Given the description of an element on the screen output the (x, y) to click on. 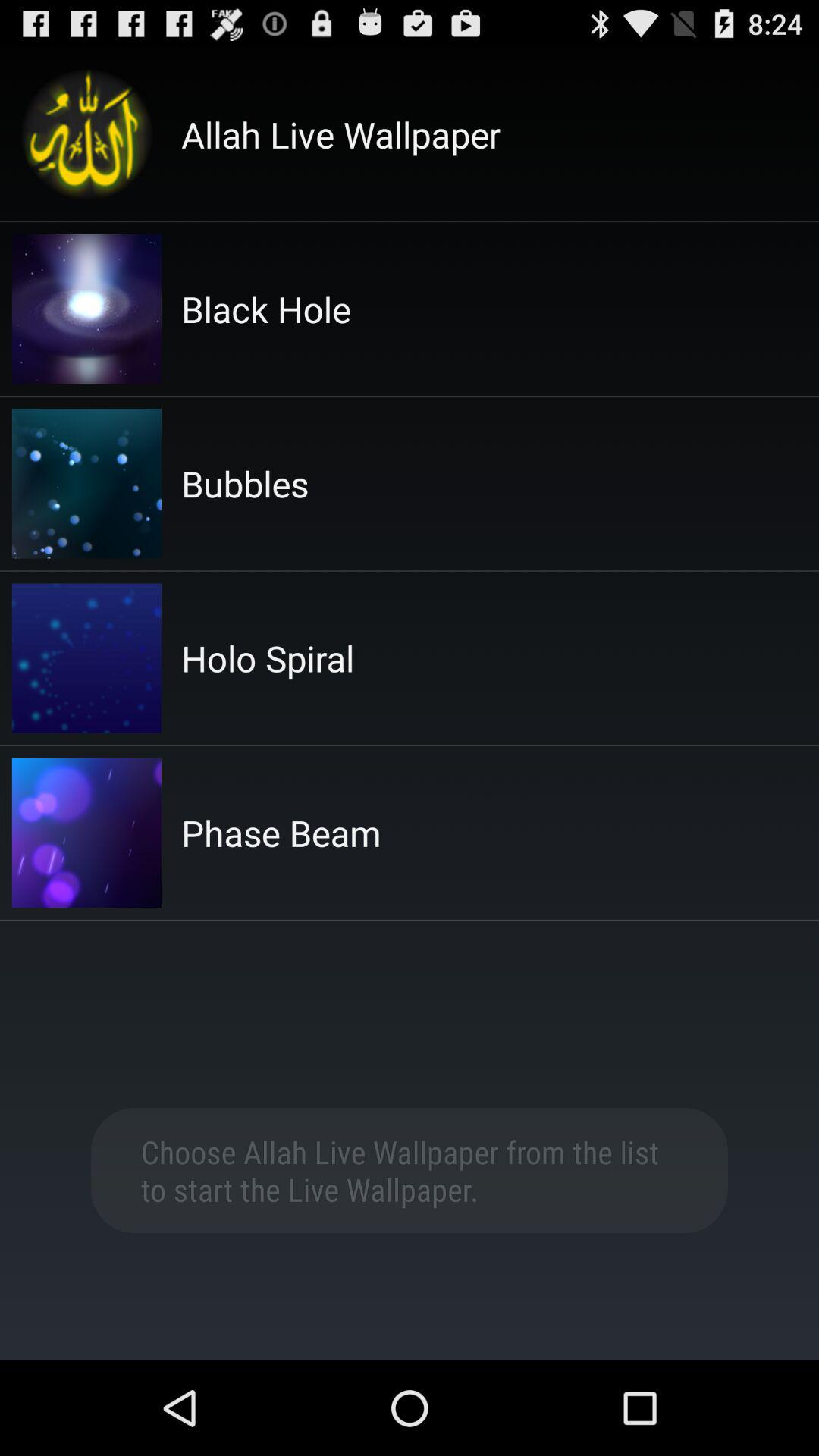
click the item below the bubbles (267, 658)
